Given the description of an element on the screen output the (x, y) to click on. 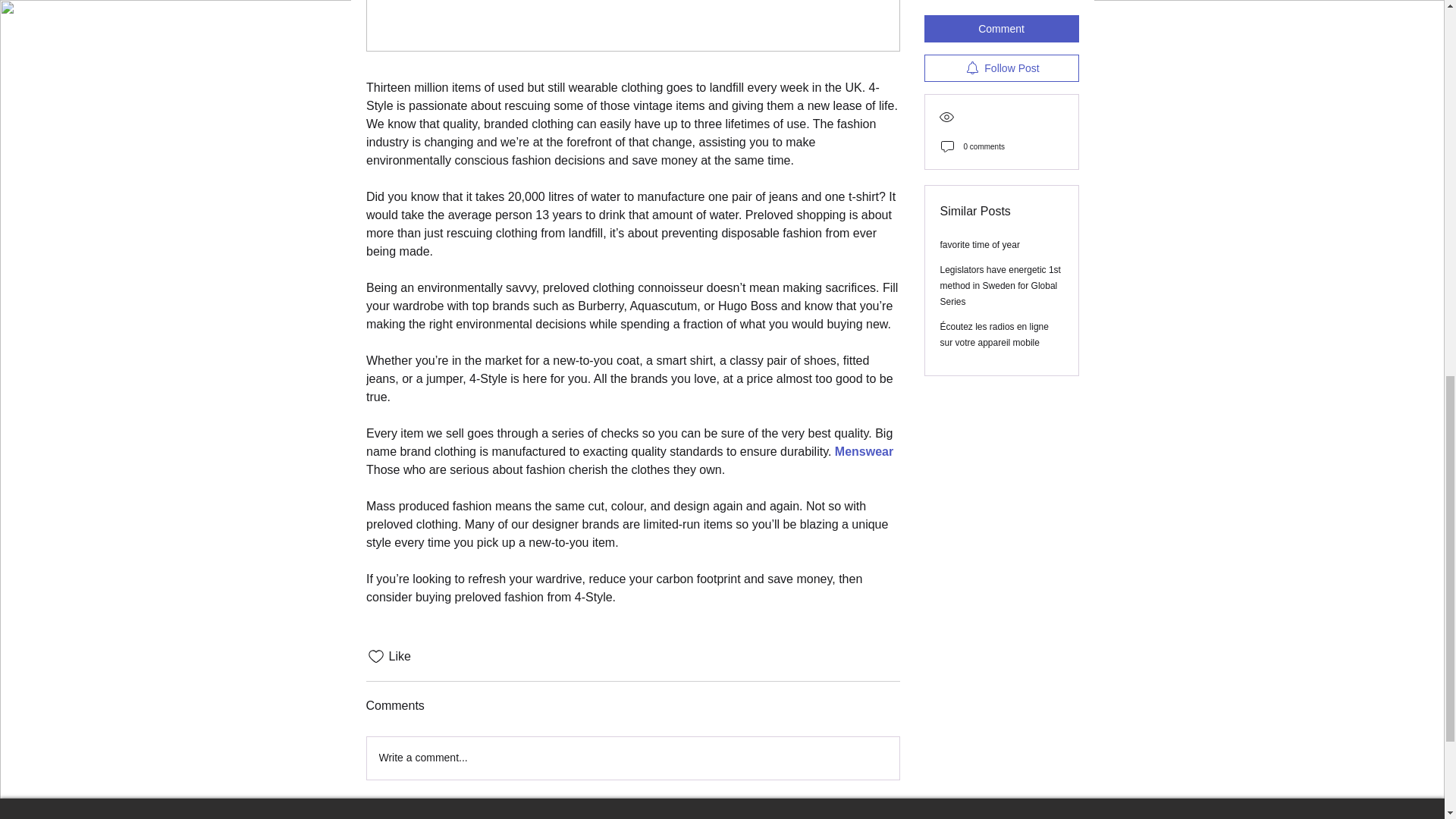
Write a comment... (632, 758)
Menswear (863, 451)
